Given the description of an element on the screen output the (x, y) to click on. 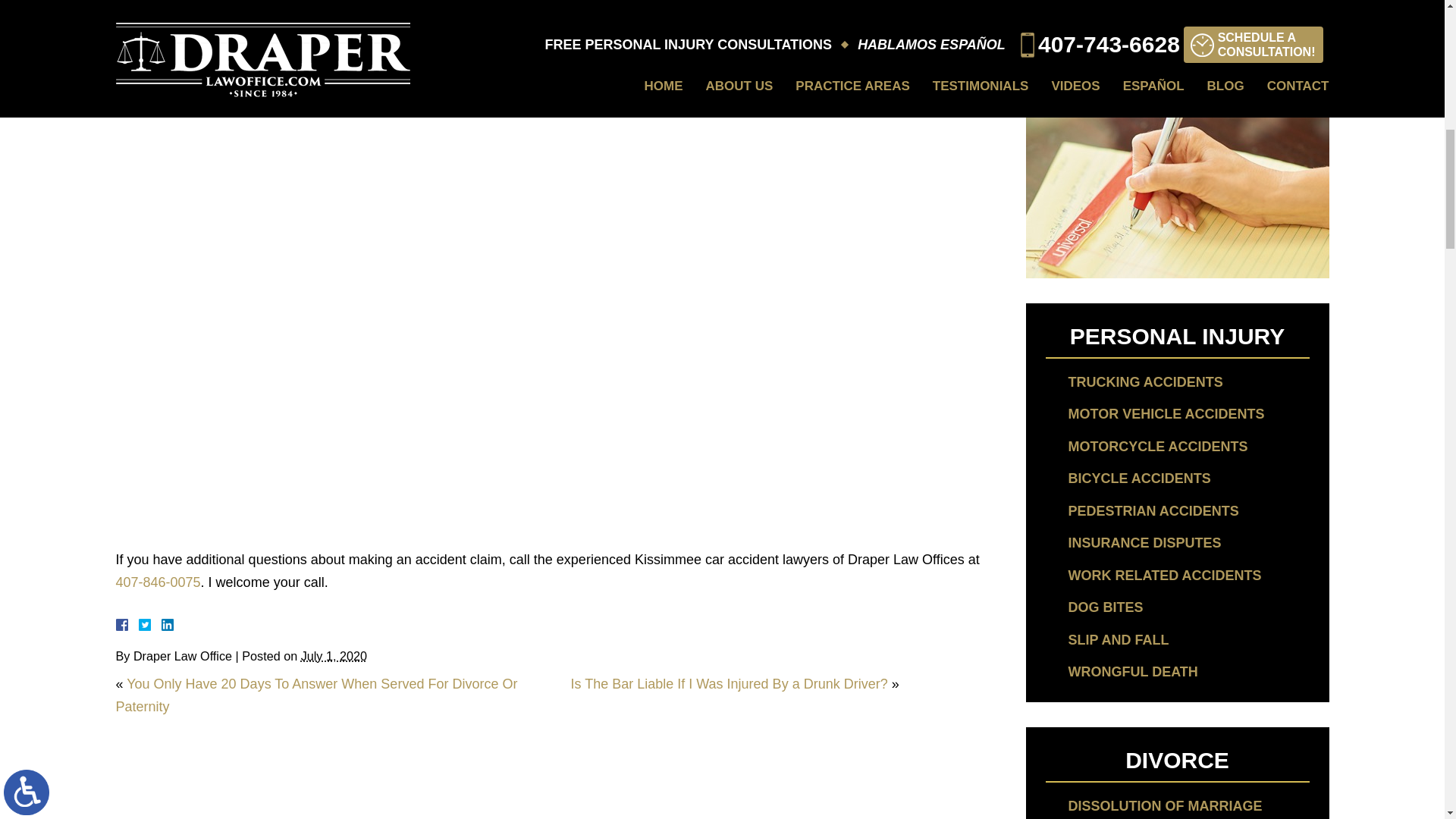
Facebook (139, 624)
Twitter (149, 624)
407-846-0075 (157, 581)
2020-07-01T21:15:27-0700 (333, 655)
LinkedIn (160, 624)
Is The Bar Liable If I Was Injured By a Drunk Driver? (728, 683)
